Given the description of an element on the screen output the (x, y) to click on. 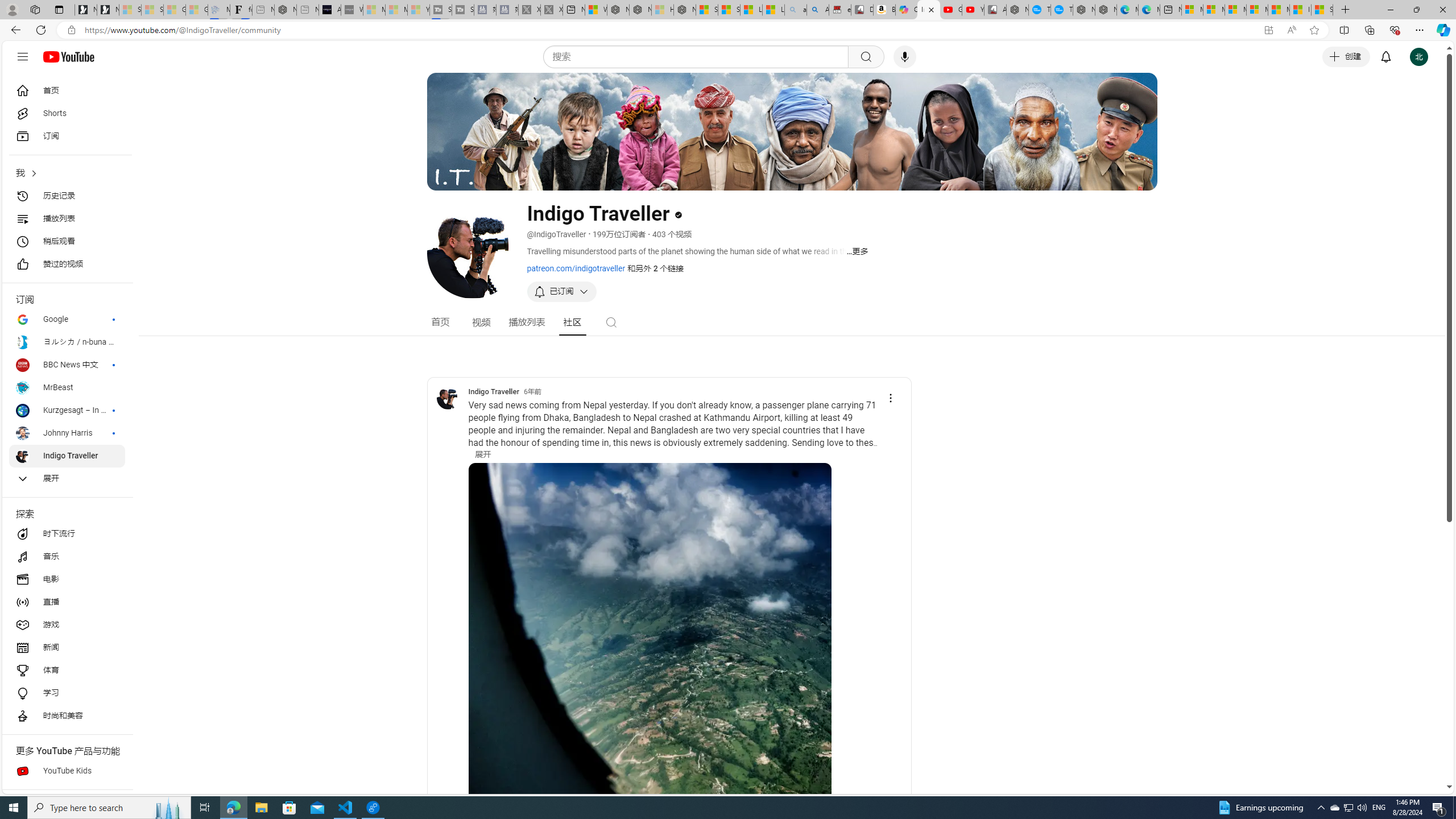
Amazon Echo Dot PNG - Search Images (818, 9)
Indigo Traveller (493, 391)
The most popular Google 'how to' searches (1061, 9)
